Given the description of an element on the screen output the (x, y) to click on. 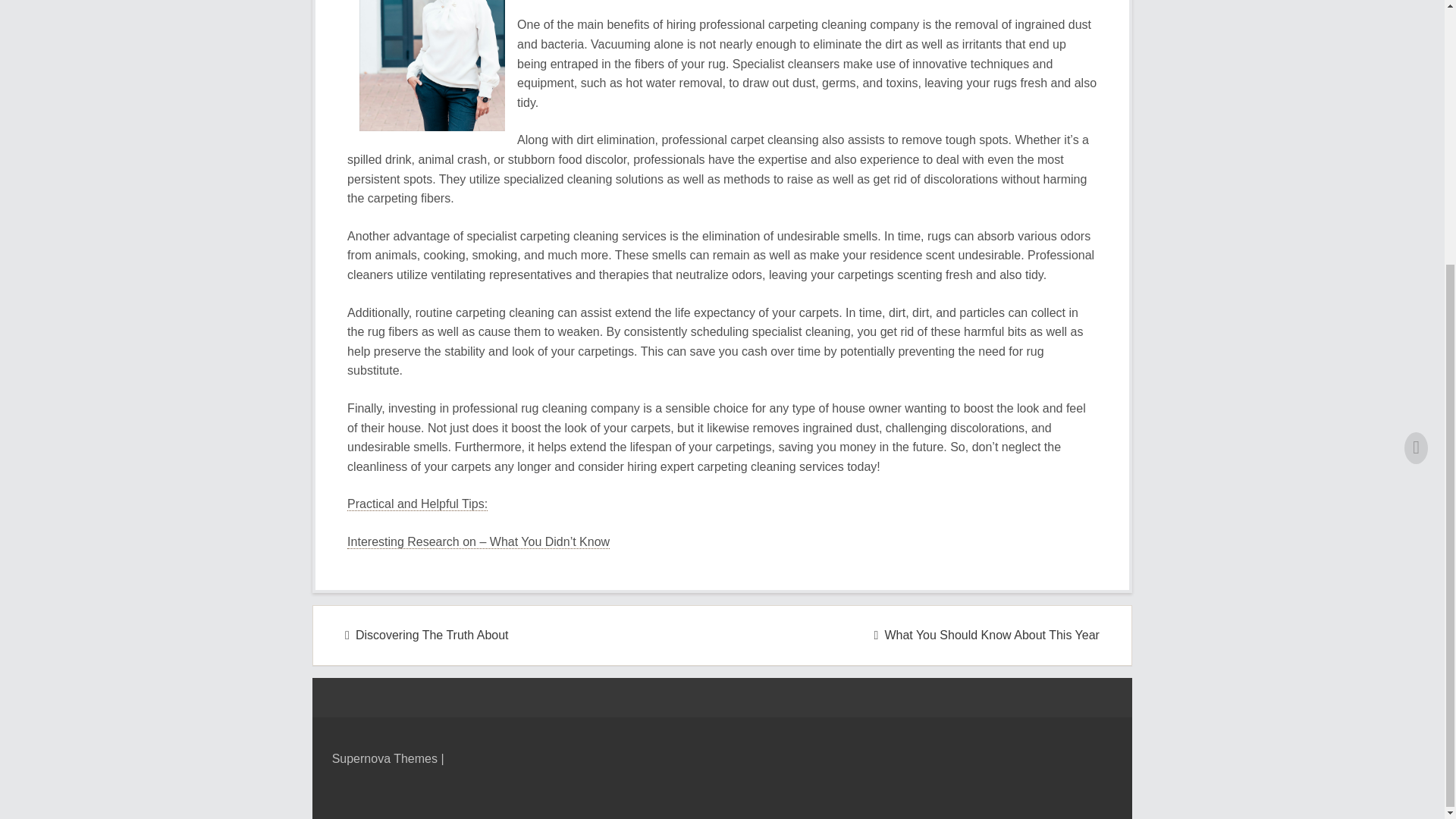
What You Should Know About This Year (987, 635)
Discovering The Truth About (426, 635)
Practical and Helpful Tips: (417, 504)
